Given the description of an element on the screen output the (x, y) to click on. 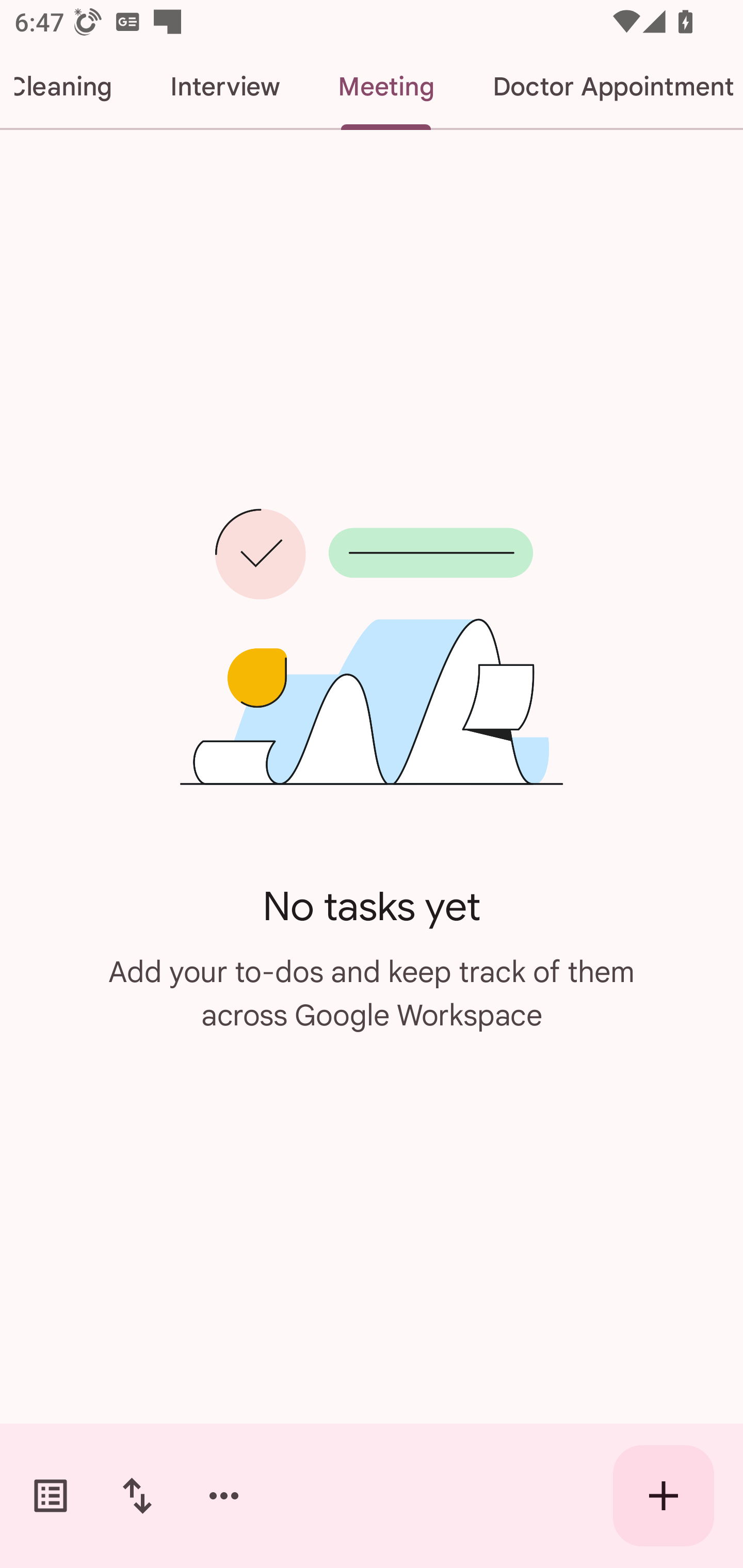
Cleaning (70, 86)
Interview (224, 86)
Doctor Appointment (603, 86)
Switch task lists (50, 1495)
Create new task (663, 1495)
Change sort order (136, 1495)
More options (223, 1495)
